Given the description of an element on the screen output the (x, y) to click on. 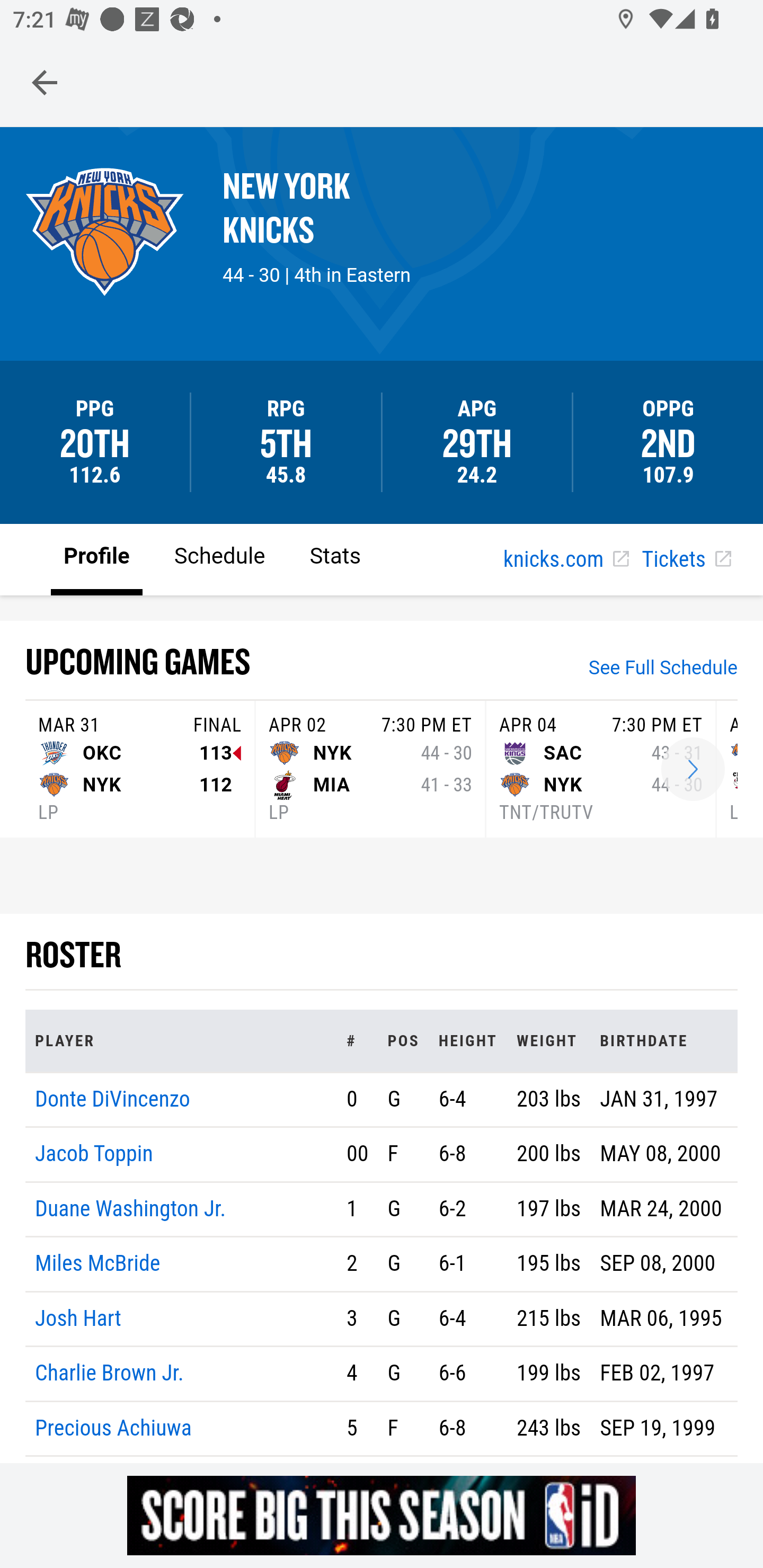
Navigate up (44, 82)
Profile (97, 558)
Schedule (219, 558)
Stats (335, 558)
knicks.com (565, 560)
Tickets (685, 560)
See Full Schedule (662, 669)
Match-up Scores (692, 769)
Donte DiVincenzo (112, 1098)
Jacob Toppin (94, 1154)
Duane Washington Jr. (131, 1207)
Miles McBride (97, 1264)
Josh Hart (78, 1317)
Charlie Brown Jr. (109, 1374)
Precious Achiuwa (113, 1427)
g5nqqygr7owph (381, 1515)
